Given the description of an element on the screen output the (x, y) to click on. 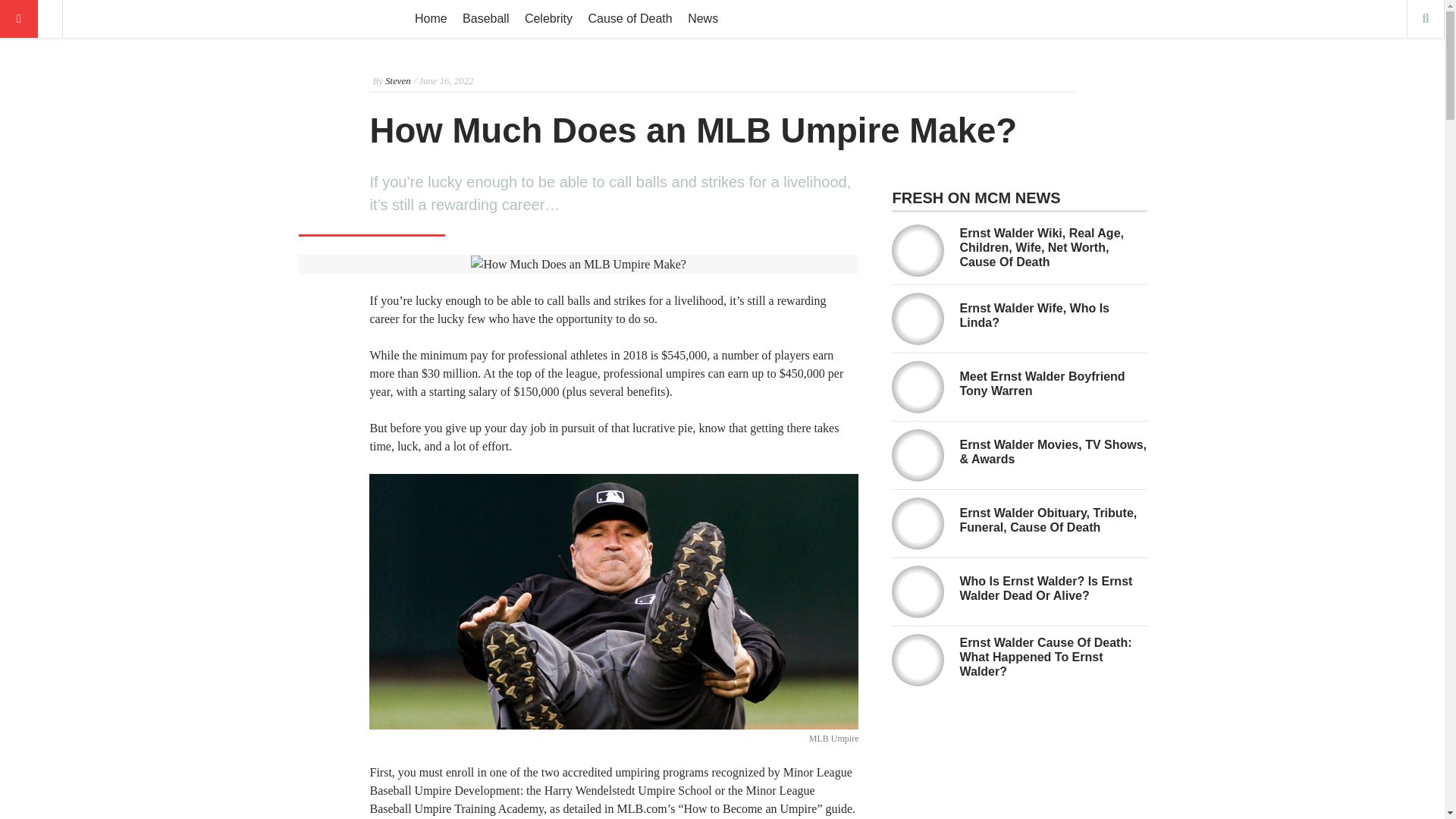
Home (430, 18)
Baseball (486, 18)
News (702, 18)
Cause of Death (629, 18)
Celebrity (548, 18)
Ernst Walder Wife, Who Is Linda? (1034, 315)
Posts by Steven (397, 81)
Steven (397, 81)
